Given the description of an element on the screen output the (x, y) to click on. 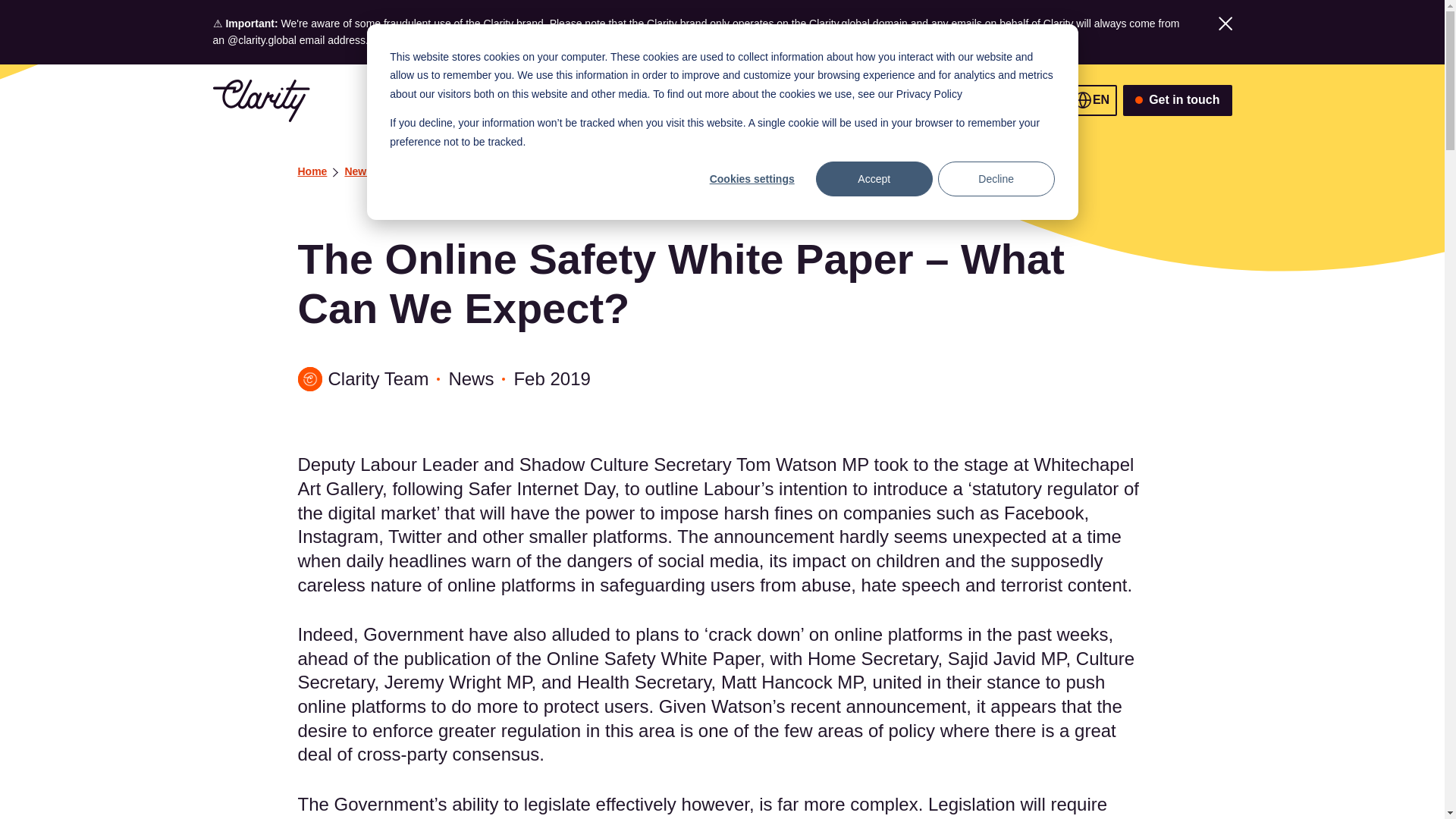
Services (828, 100)
Select to close (1224, 23)
Our Work (567, 100)
Who We Help (746, 100)
Clarity Global (260, 100)
Careers Page (595, 39)
Skip To Main Content (228, 101)
